Given the description of an element on the screen output the (x, y) to click on. 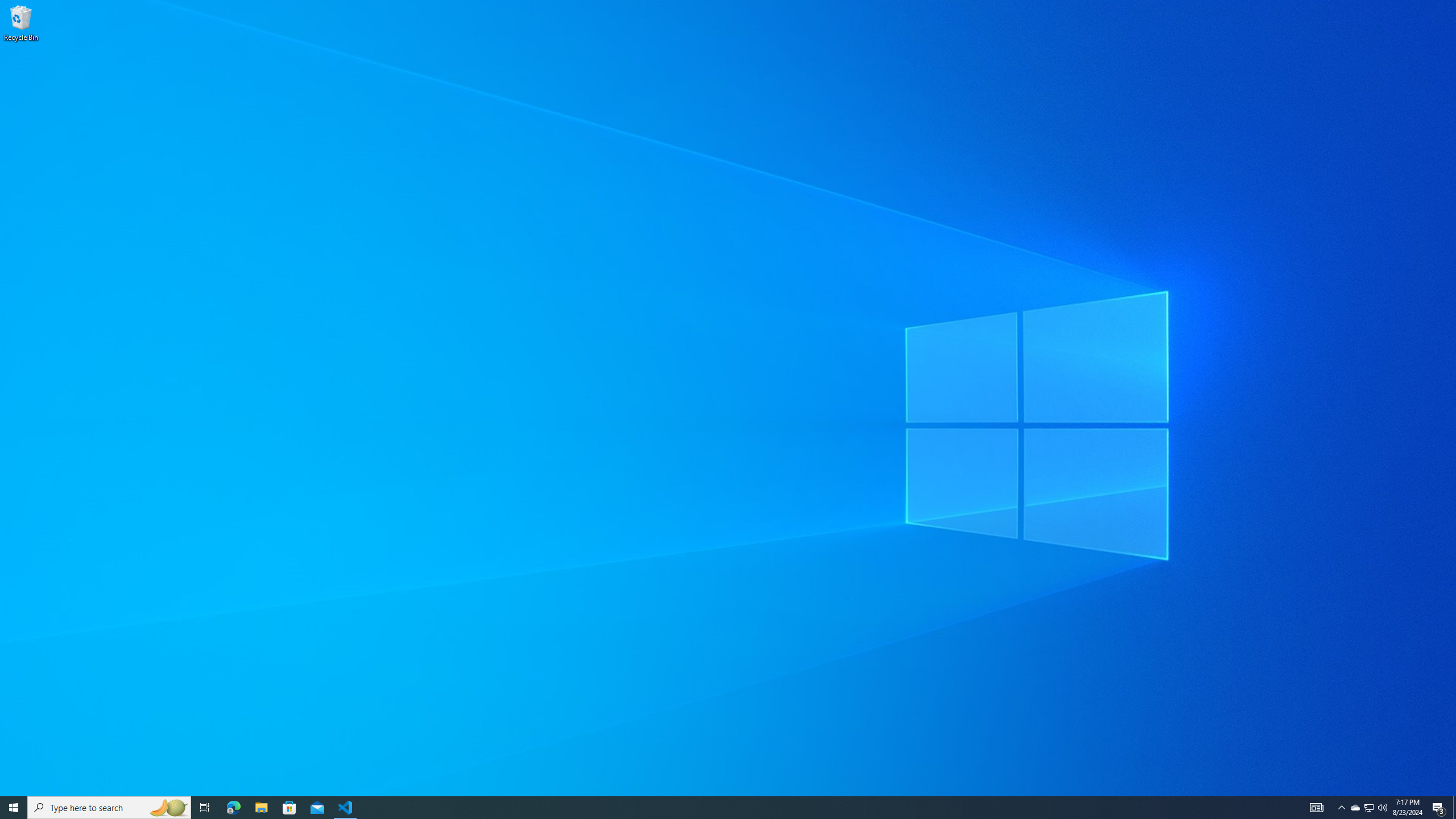
Recycle Bin (21, 22)
